Given the description of an element on the screen output the (x, y) to click on. 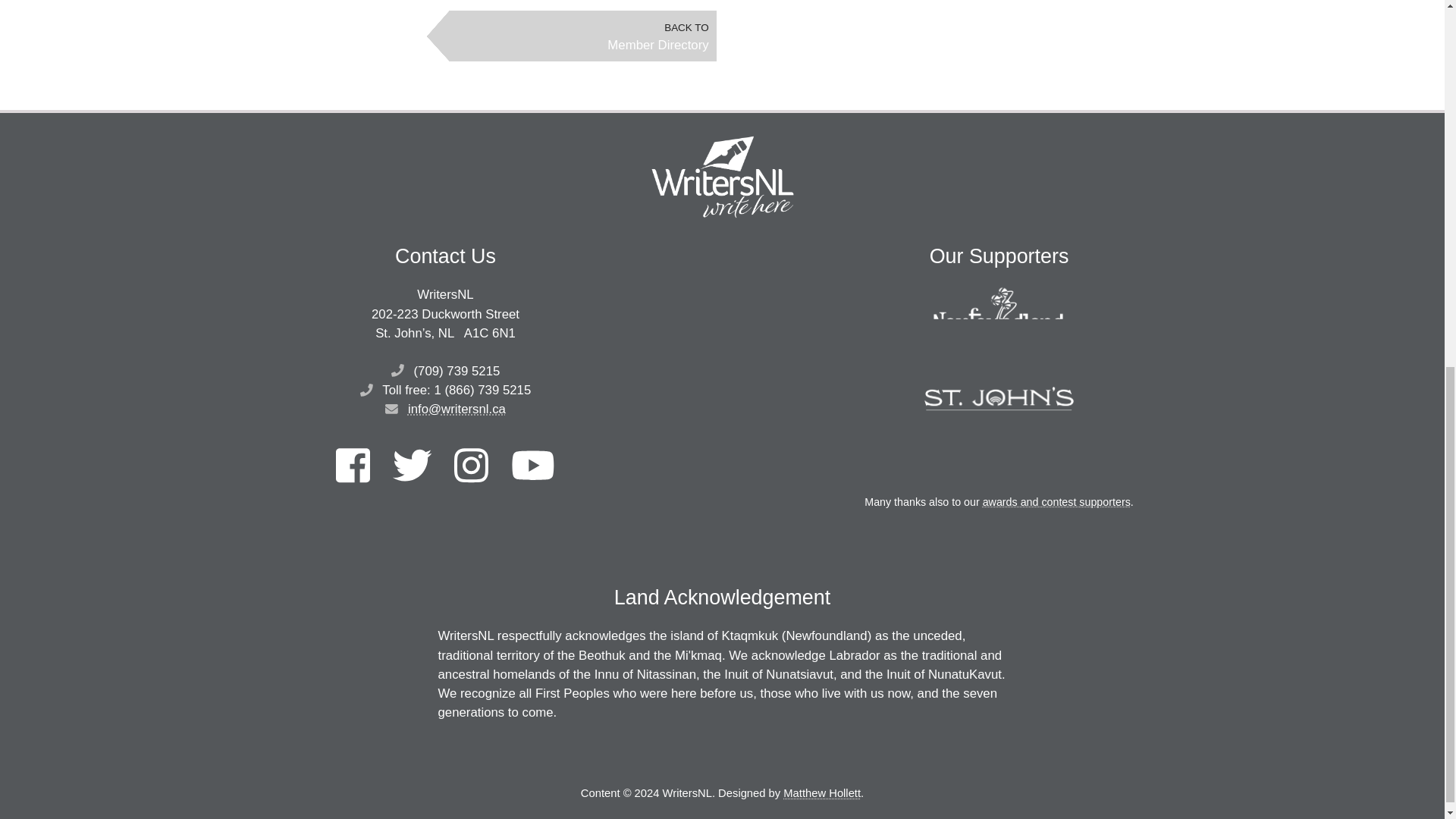
Canada Council (999, 458)
Newfoundland and Labrador (999, 320)
WritersNL on Twitter (411, 465)
City of St. John's (999, 398)
WritersNL on YouTube (532, 465)
